Given the description of an element on the screen output the (x, y) to click on. 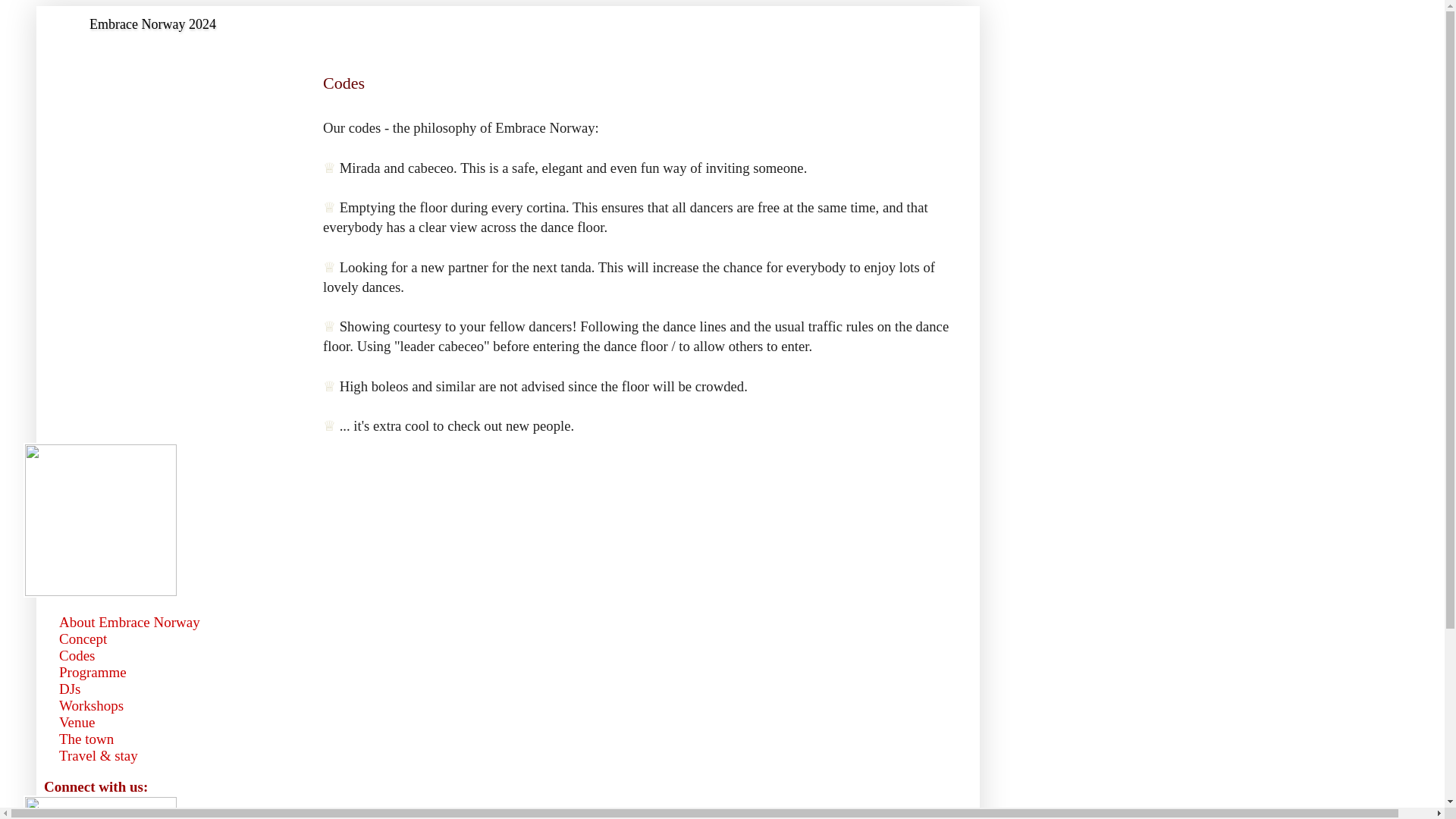
Concept (82, 638)
Embrace Norway 2024 (151, 23)
About Embrace Norway (129, 621)
Codes (77, 655)
Venue (76, 722)
The town (86, 738)
Programme (92, 672)
DJs (70, 688)
Workshops (91, 705)
